Given the description of an element on the screen output the (x, y) to click on. 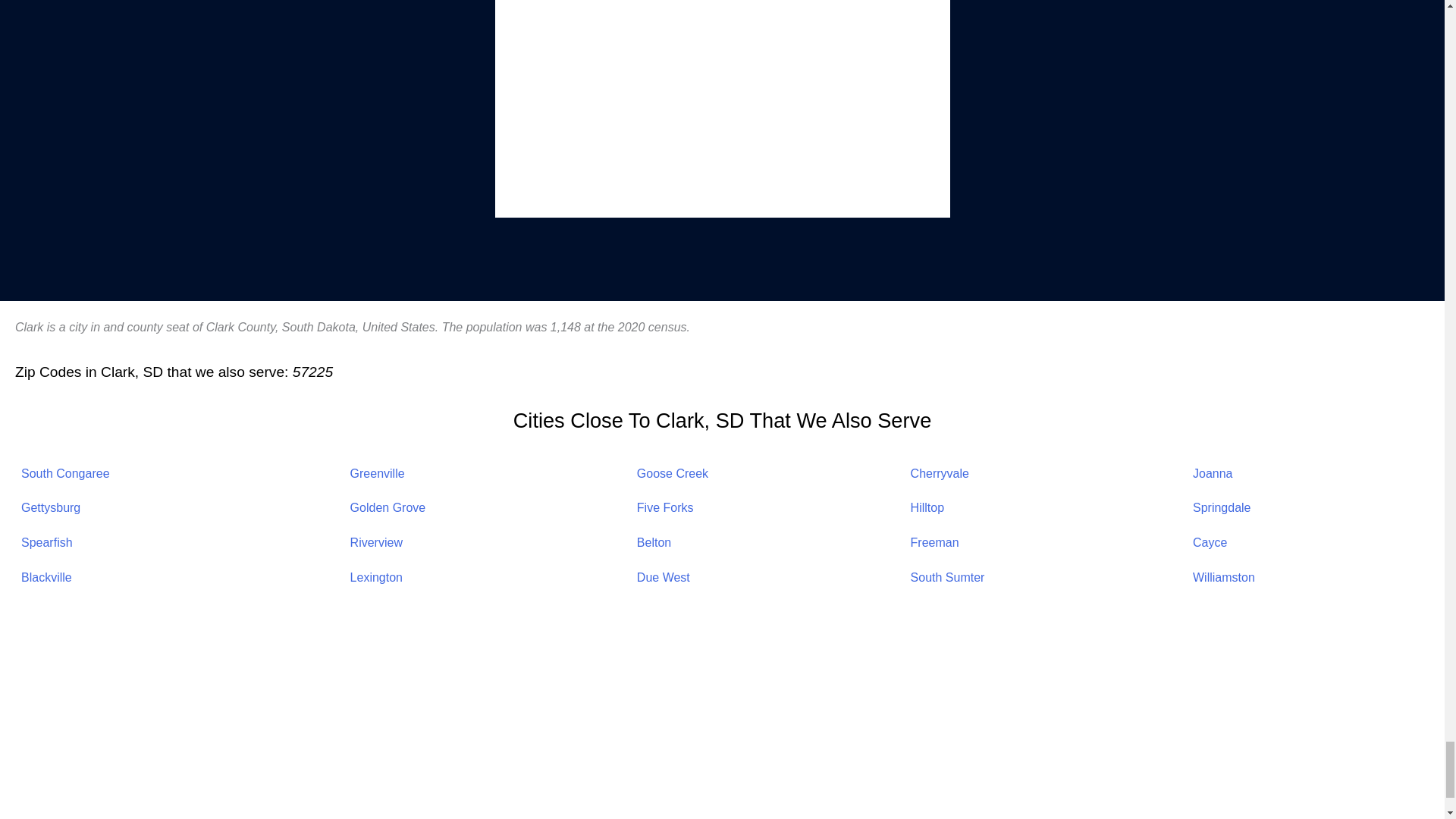
Goose Creek (672, 472)
Gettysburg (50, 507)
Cherryvale (940, 472)
Five Forks (665, 507)
Joanna (1212, 472)
Greenville (377, 472)
South Congaree (65, 472)
Golden Grove (388, 507)
